Given the description of an element on the screen output the (x, y) to click on. 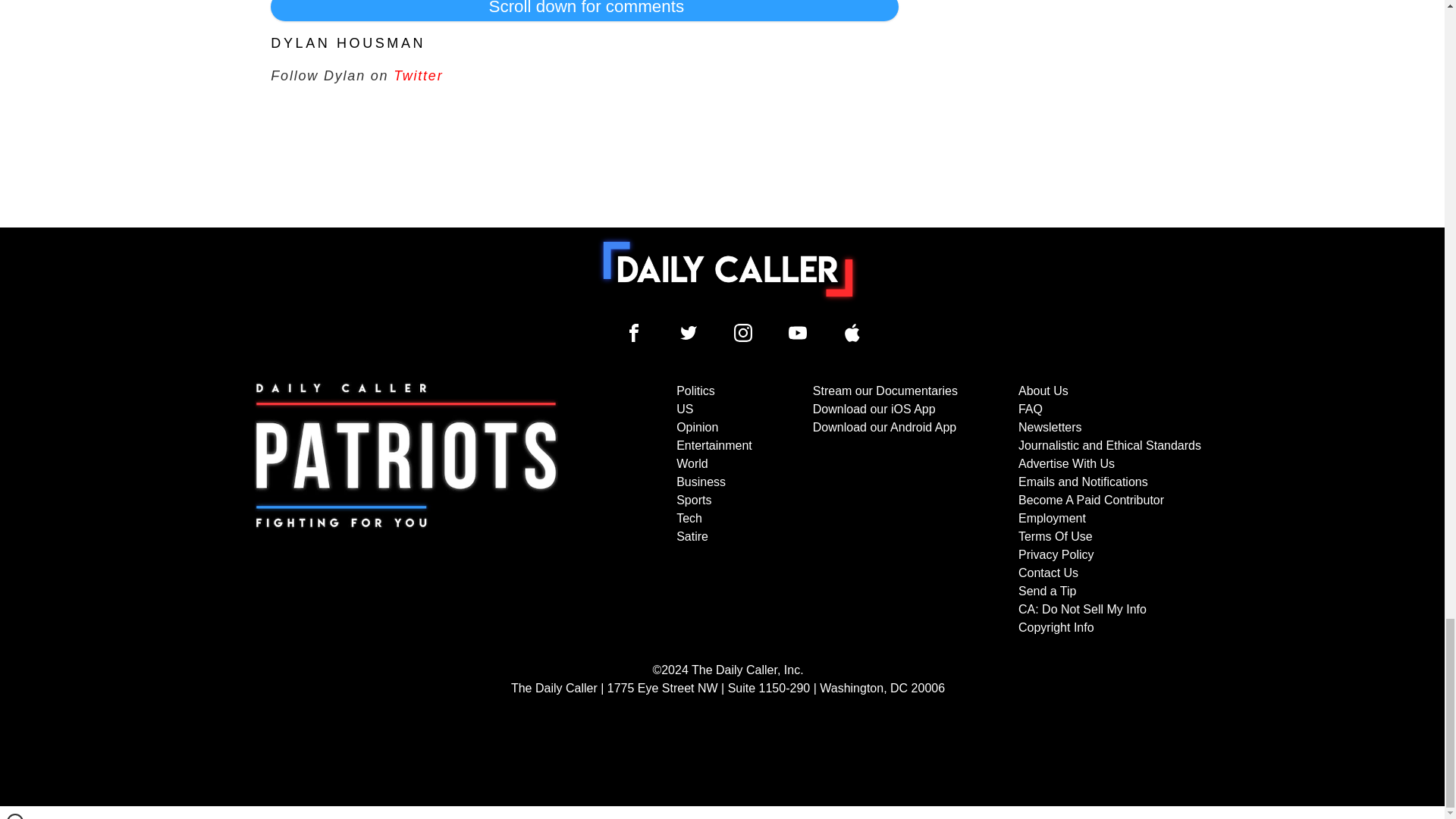
Daily Caller Twitter (688, 332)
Subscribe to The Daily Caller (405, 509)
Daily Caller Instagram (742, 332)
Daily Caller Facebook (633, 332)
Daily Caller YouTube (797, 332)
Daily Caller YouTube (852, 332)
Scroll down for comments (584, 10)
To home page (727, 268)
